Given the description of an element on the screen output the (x, y) to click on. 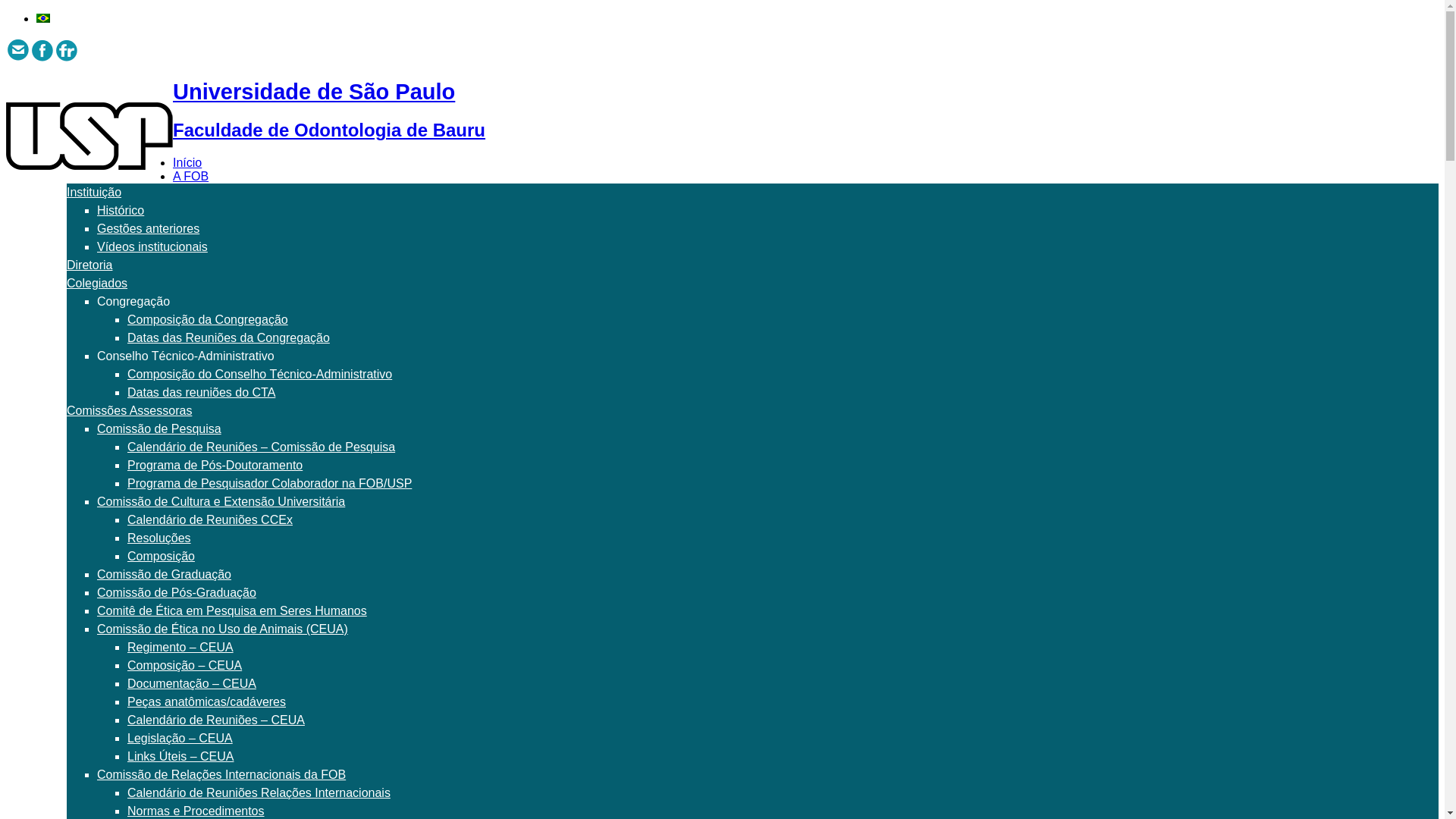
Fale conosco Element type: hover (18, 49)
Programa de Pesquisador Colaborador na FOB/USP Element type: text (269, 482)
Facebook Element type: hover (42, 49)
A FOB Element type: text (190, 175)
Colegiados Element type: text (96, 282)
Normas e Procedimentos Element type: text (195, 810)
Diretoria Element type: text (89, 264)
Flickr Element type: hover (66, 49)
